Given the description of an element on the screen output the (x, y) to click on. 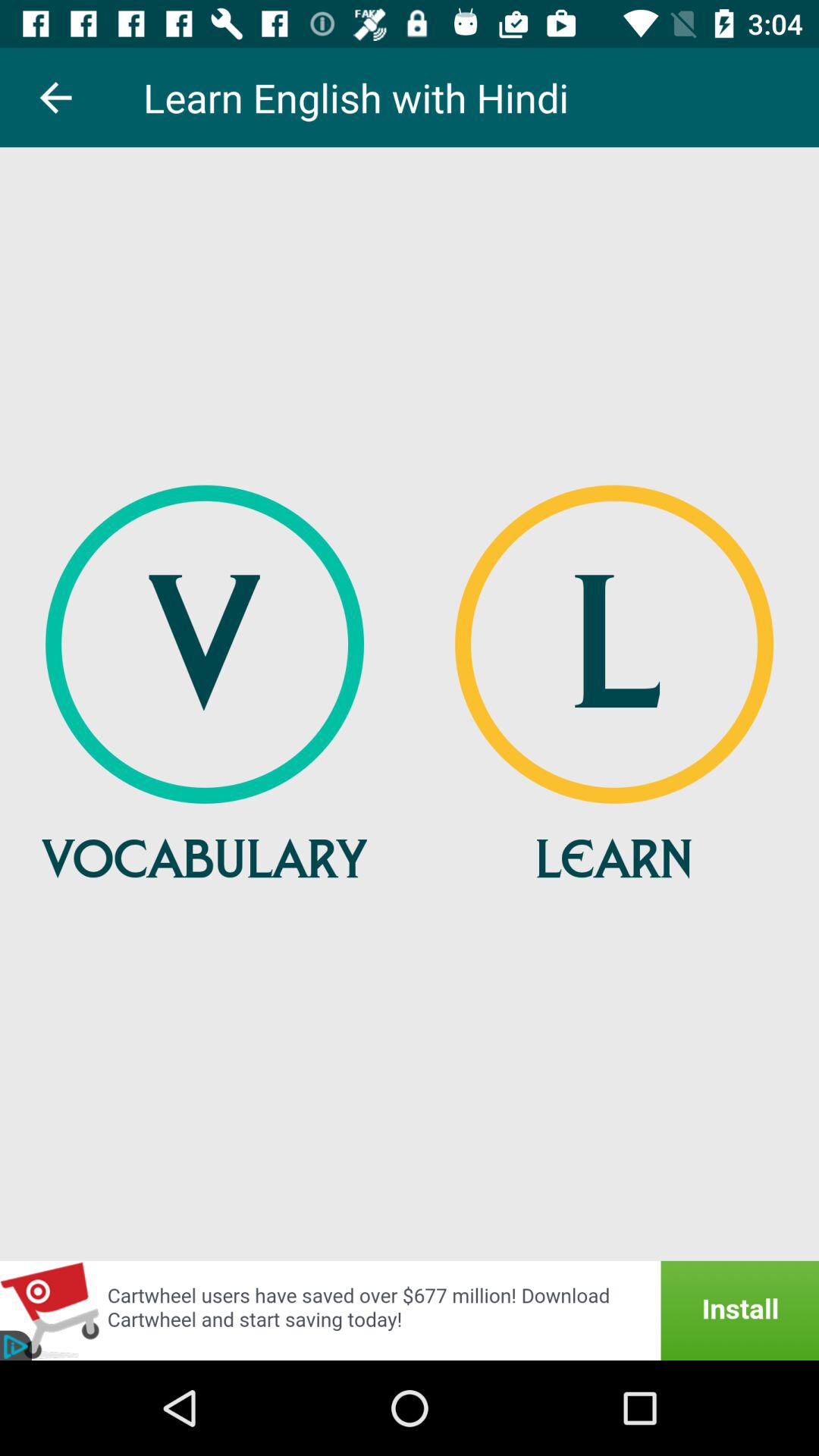
advertisement (409, 1310)
